Given the description of an element on the screen output the (x, y) to click on. 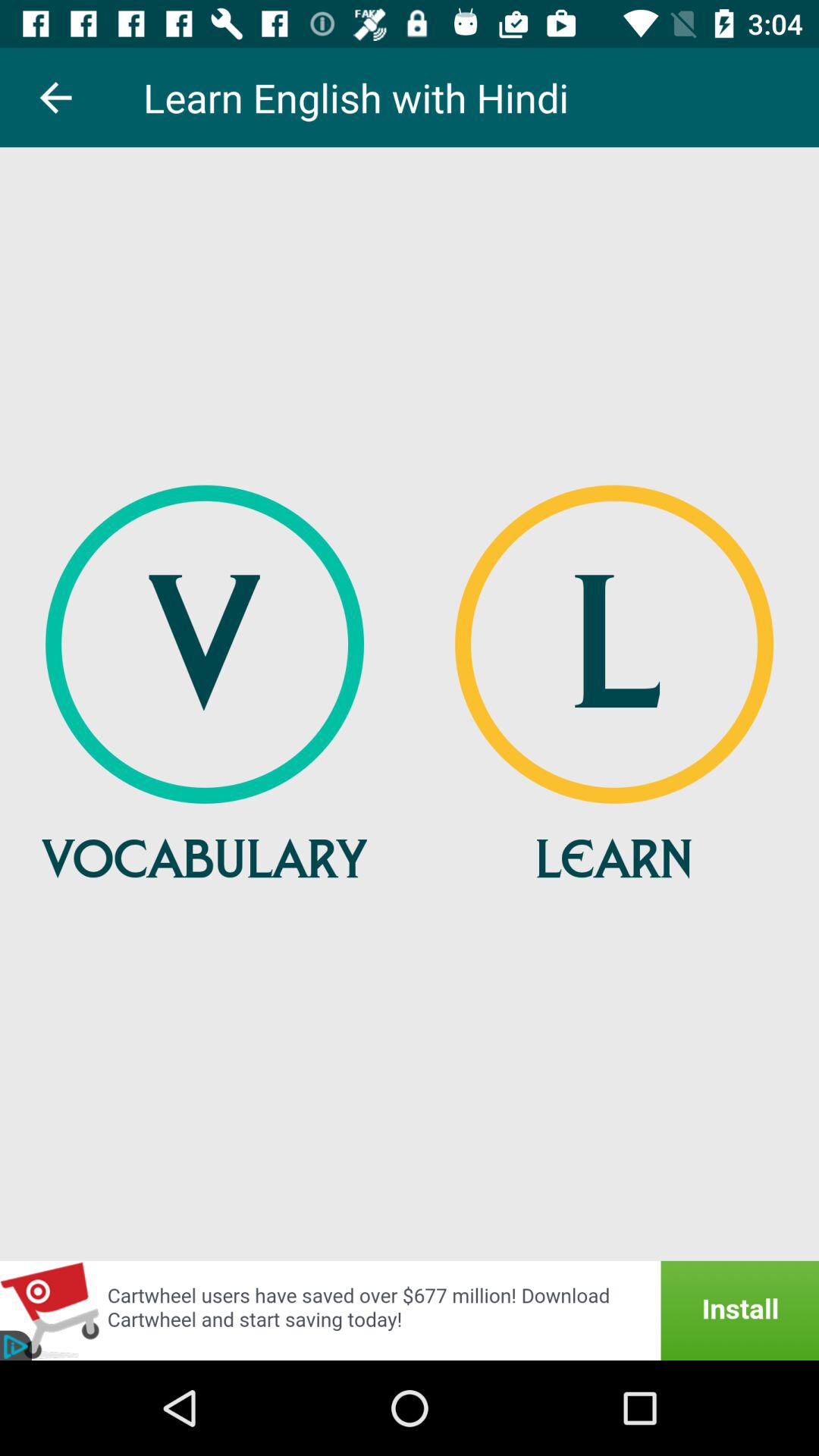
advertisement (409, 1310)
